Given the description of an element on the screen output the (x, y) to click on. 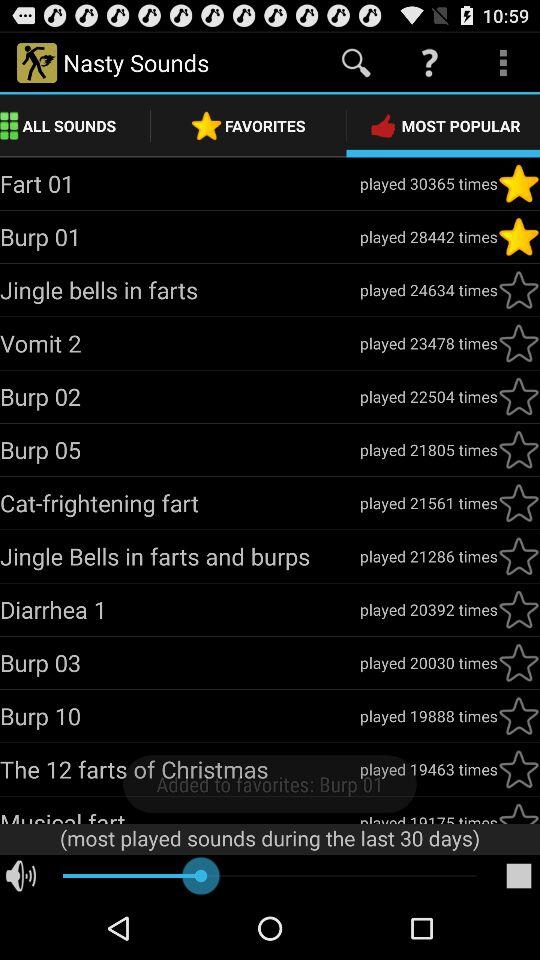
flip to the played 22504 times item (428, 396)
